Given the description of an element on the screen output the (x, y) to click on. 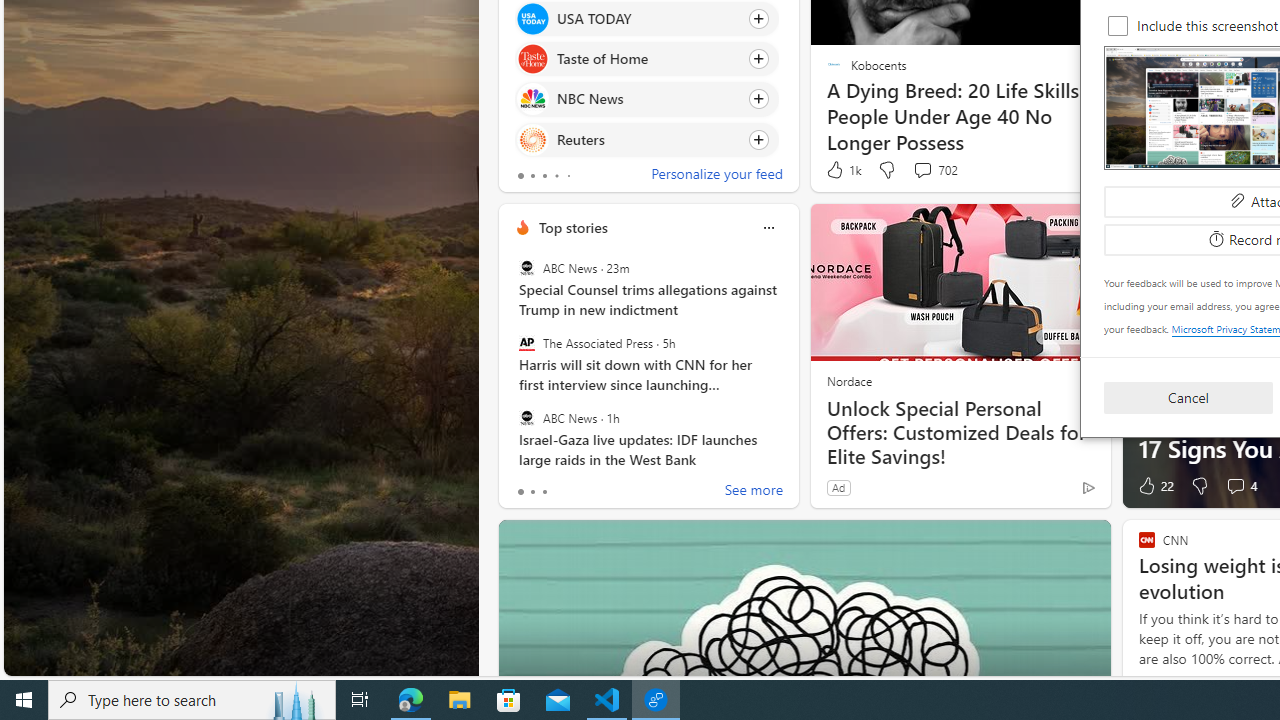
View comments 4 Comment (1240, 485)
ABC News (526, 417)
Click to follow source Reuters (646, 138)
Click to follow source NBC News (646, 99)
tab-3 (556, 175)
Edge Feedback - 1 running window (656, 699)
Task View (359, 699)
22 Like (1154, 485)
Cancel (1188, 396)
